Given the description of an element on the screen output the (x, y) to click on. 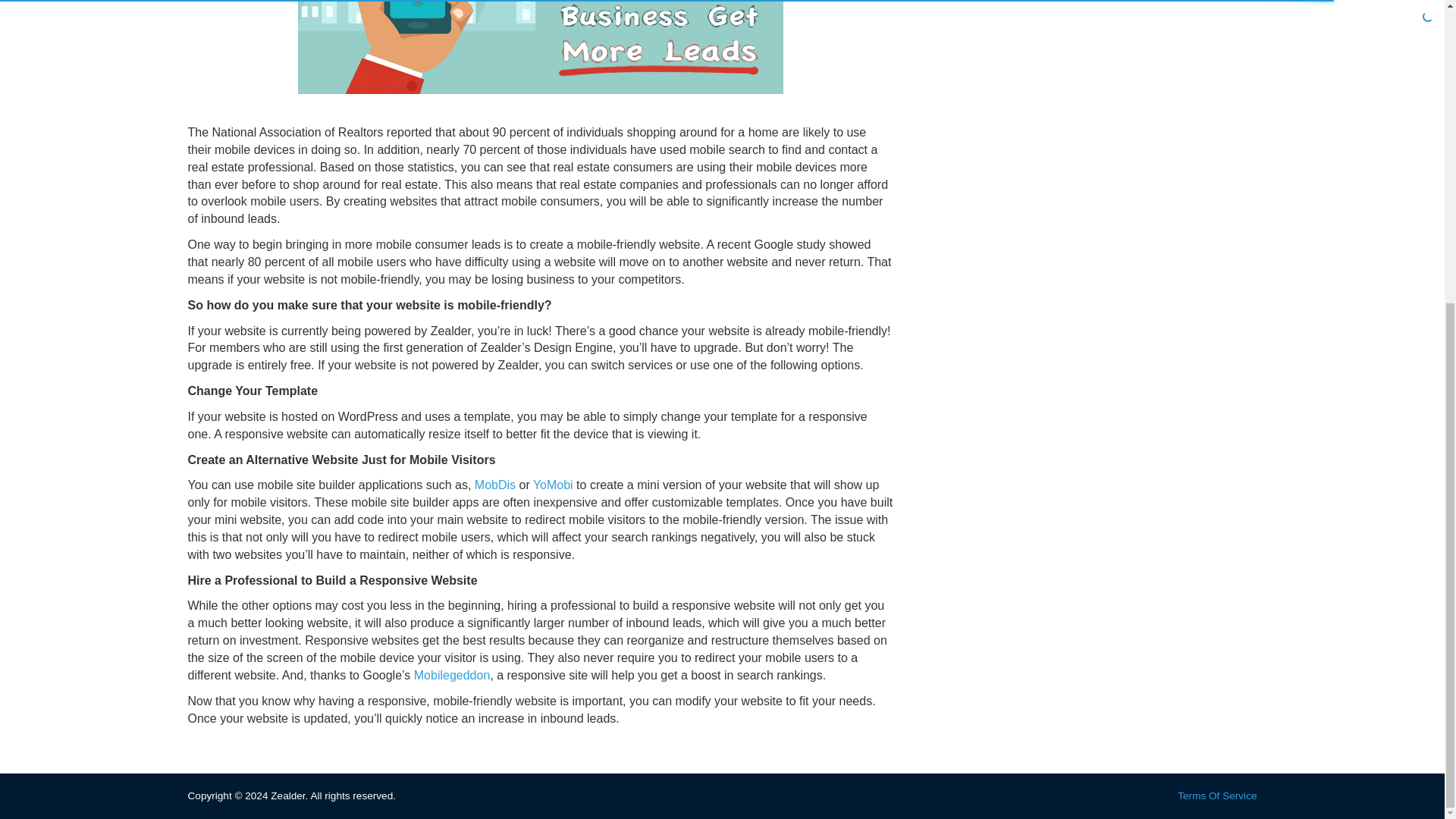
MobDis (494, 484)
Mobilegeddon (451, 675)
YoMobi (552, 484)
